Given the description of an element on the screen output the (x, y) to click on. 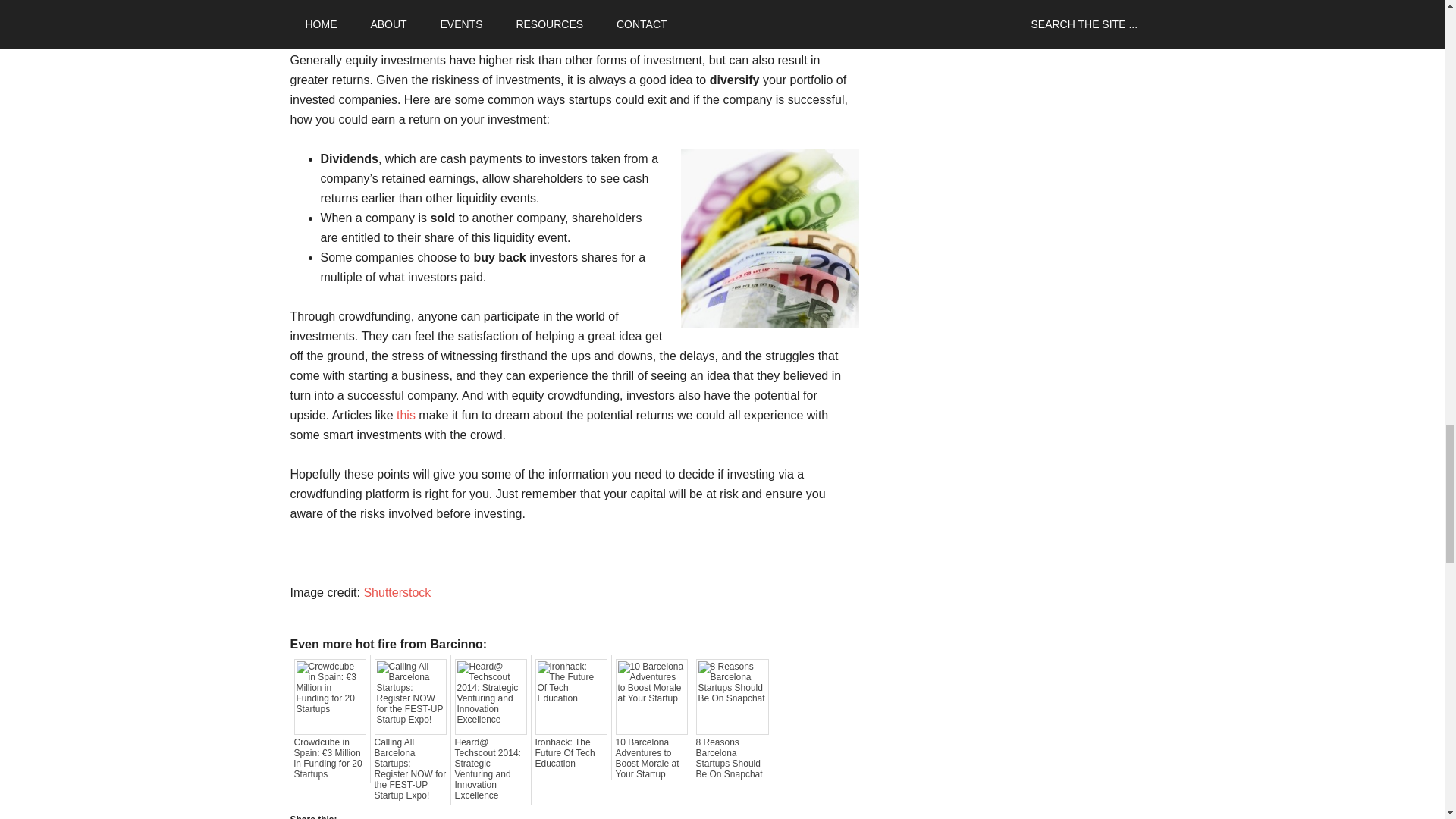
Shutterstock (396, 592)
this (405, 414)
